Given the description of an element on the screen output the (x, y) to click on. 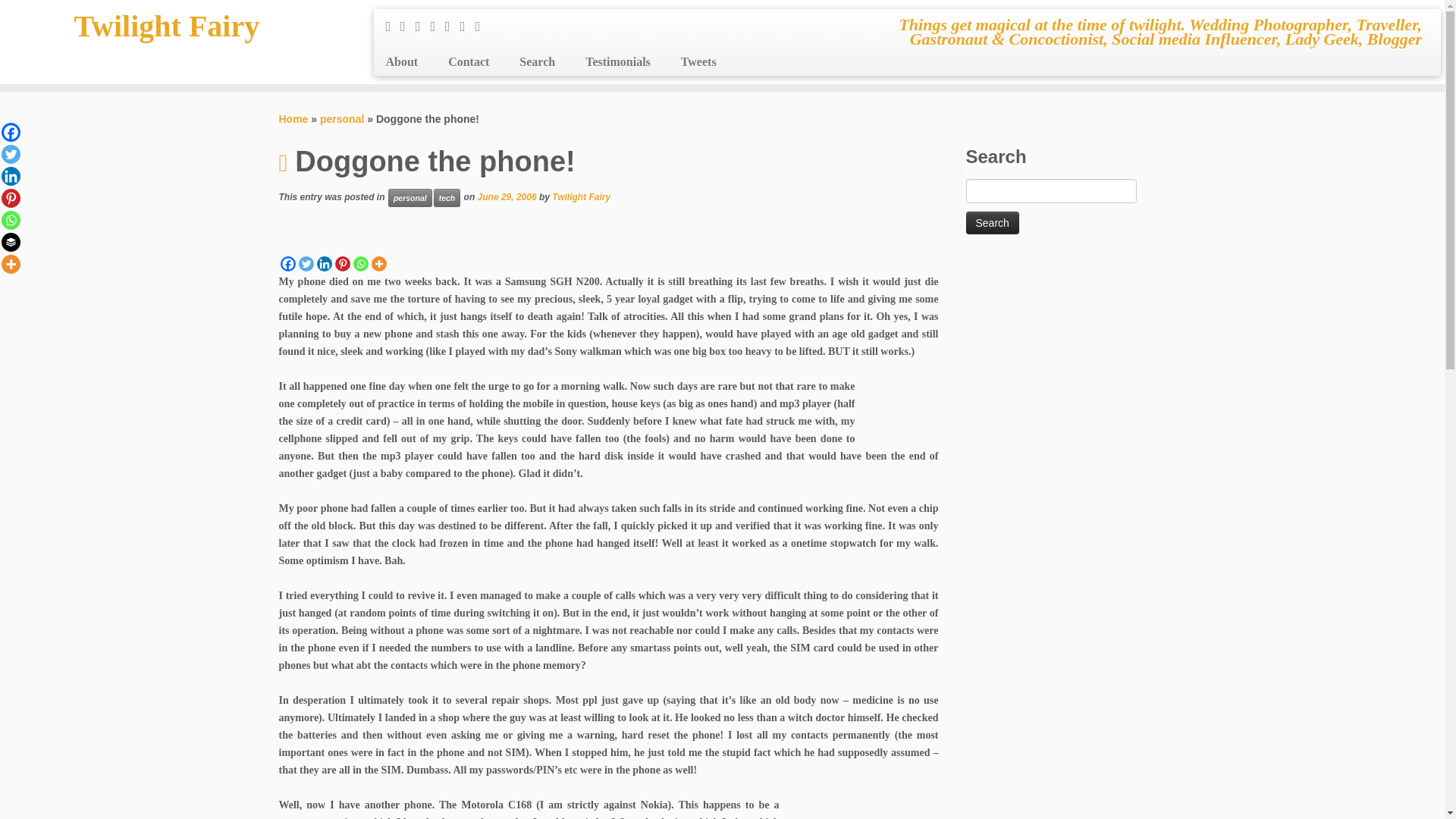
View all posts in tech (447, 198)
View all posts in personal (410, 198)
Follow me on Youtube (468, 26)
About (406, 62)
3:55 am (507, 196)
Subscribe to my rss feed (392, 26)
personal (342, 119)
Follow me on Twitter (407, 26)
Follow me on LinkedIn (481, 26)
tech (447, 198)
